Given the description of an element on the screen output the (x, y) to click on. 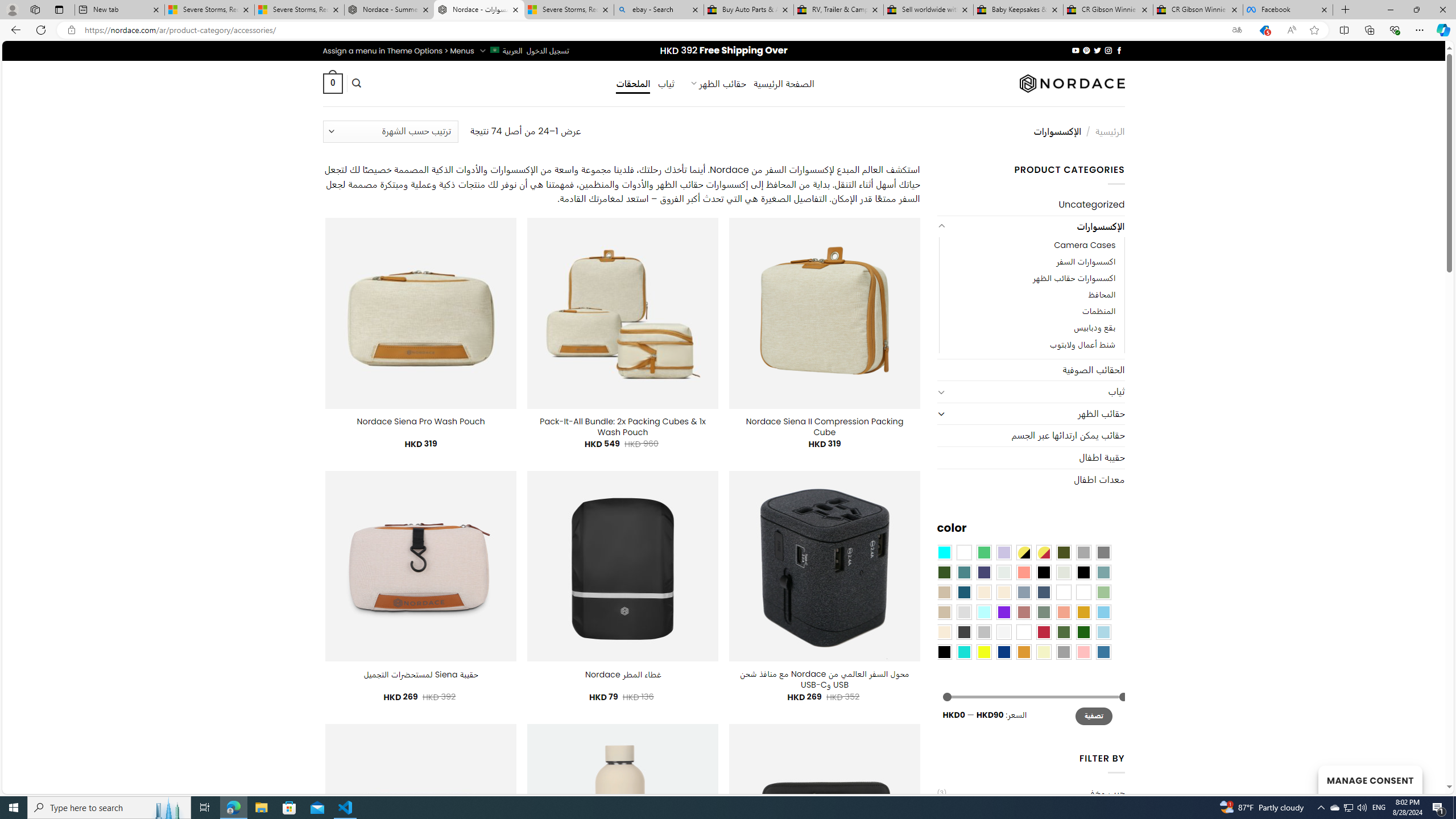
Kelp (1063, 591)
Address and search bar (653, 29)
Light Taupe (944, 611)
New tab (118, 9)
Close tab (1324, 9)
Sell worldwide with eBay (928, 9)
Buy Auto Parts & Accessories | eBay (747, 9)
Minimize (1390, 9)
